Given the description of an element on the screen output the (x, y) to click on. 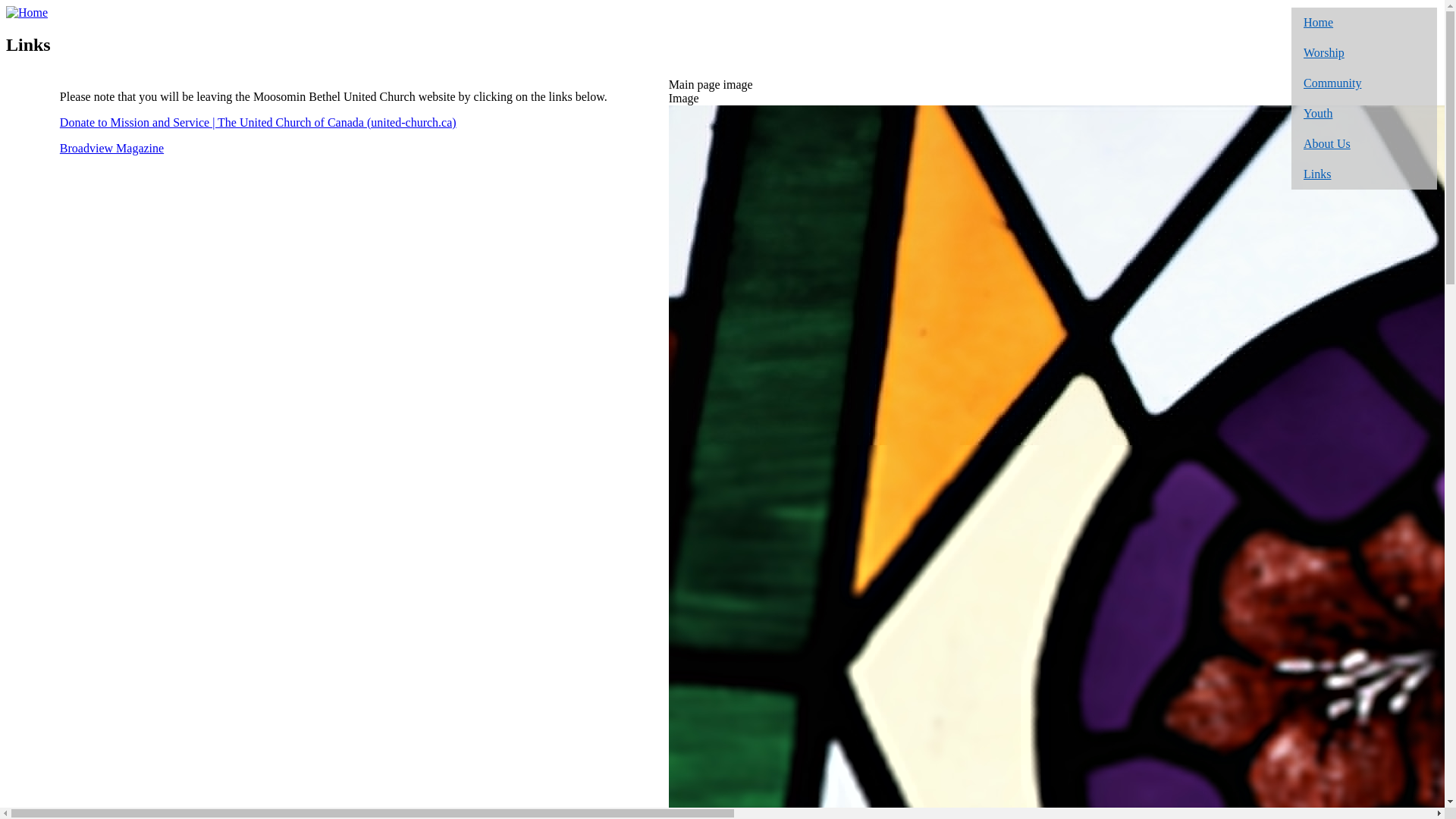
Worship Element type: text (1364, 52)
Skip to main content Element type: text (6, 6)
Broadview Magazine Element type: text (111, 147)
About Us Element type: text (1364, 143)
Home Element type: text (1364, 22)
Home Element type: hover (26, 12)
Links Element type: text (1364, 174)
Youth Element type: text (1364, 113)
Community Element type: text (1364, 83)
